Given the description of an element on the screen output the (x, y) to click on. 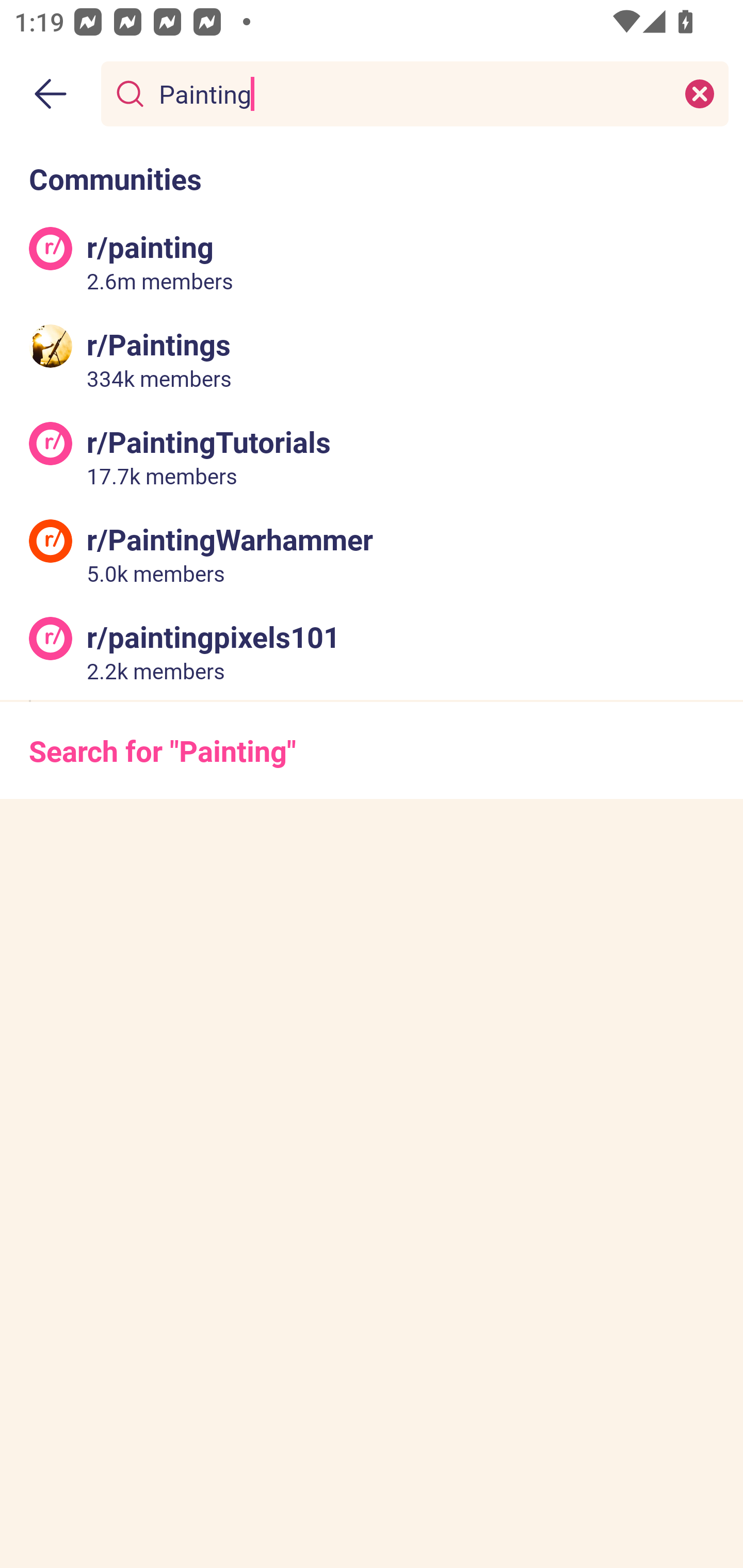
Back (50, 93)
Painting (410, 93)
Clear search (699, 93)
r/painting 2.6m members 2.6 million members (371, 261)
r/Paintings 334k members 334 thousand members (371, 358)
Search for "Painting" (371, 750)
